Given the description of an element on the screen output the (x, y) to click on. 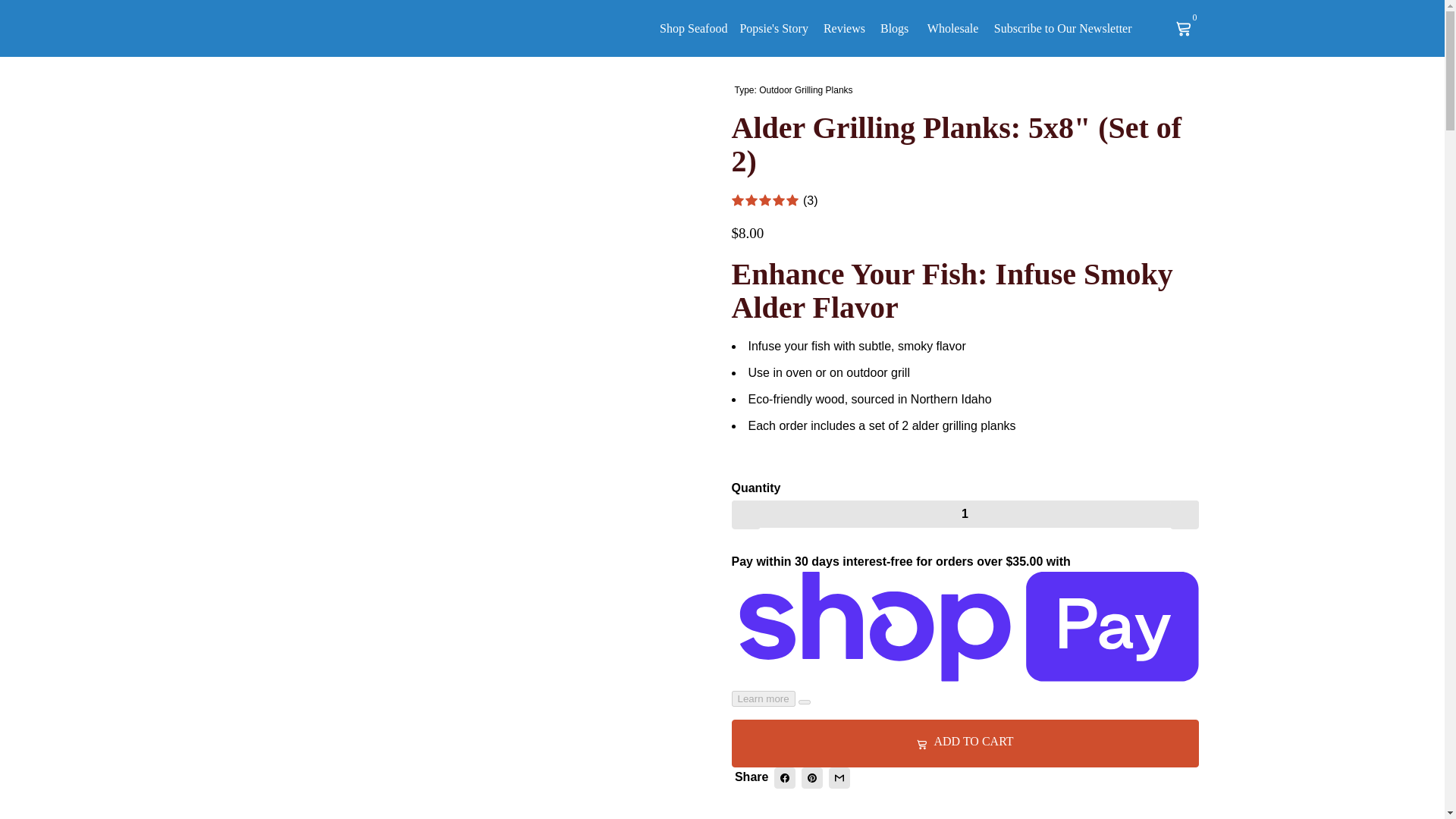
0 (1182, 28)
1 (964, 513)
Subscribe to Our Newsletter (1063, 28)
Shop Seafood (693, 28)
Blogs (896, 28)
Reviews (845, 28)
Wholesale (953, 28)
Popsie's Story (774, 28)
Cart (1182, 28)
